Given the description of an element on the screen output the (x, y) to click on. 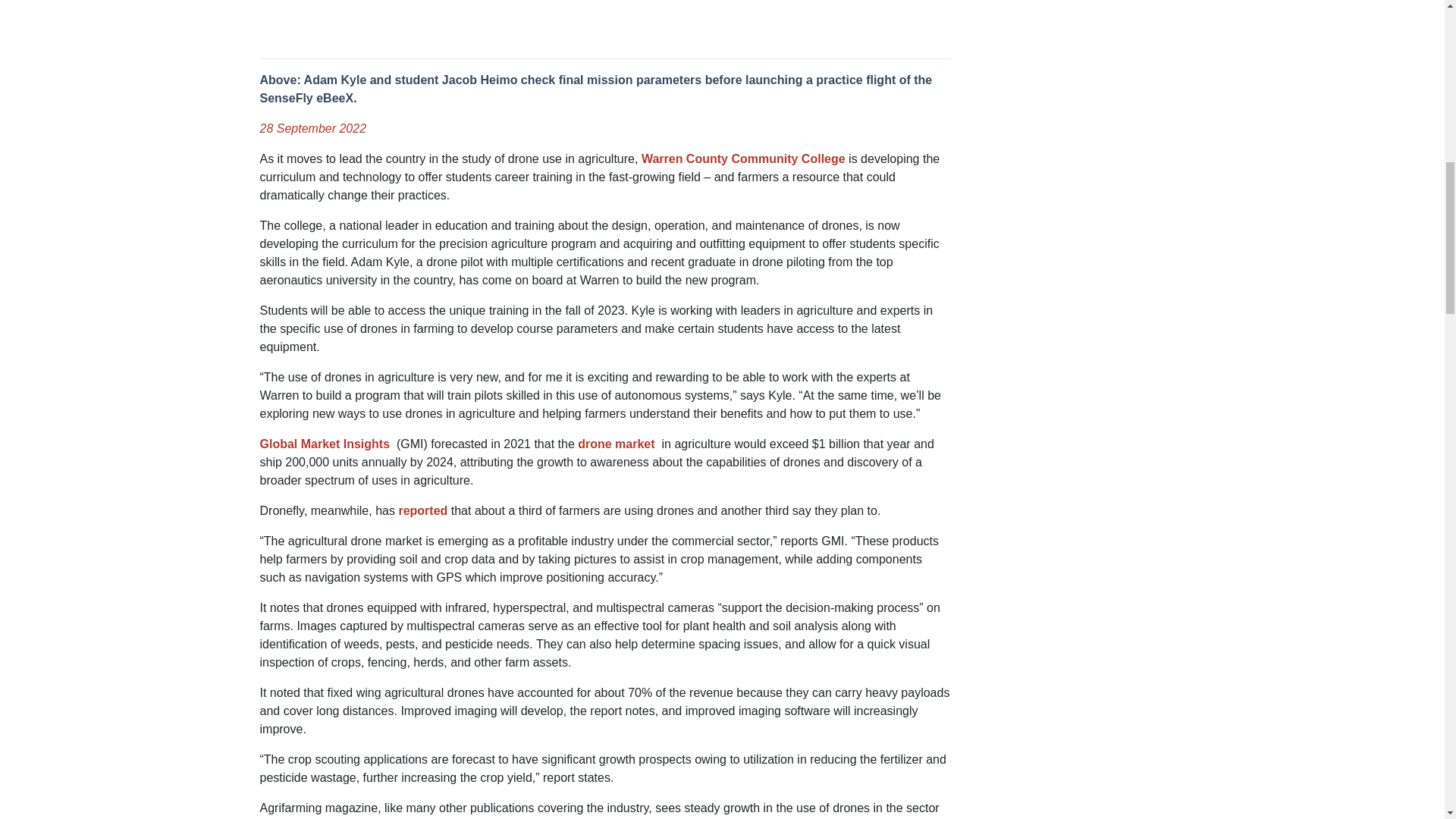
Global Market Insights (324, 443)
drone market (615, 443)
Warren County Community College (743, 158)
reported (421, 510)
